Given the description of an element on the screen output the (x, y) to click on. 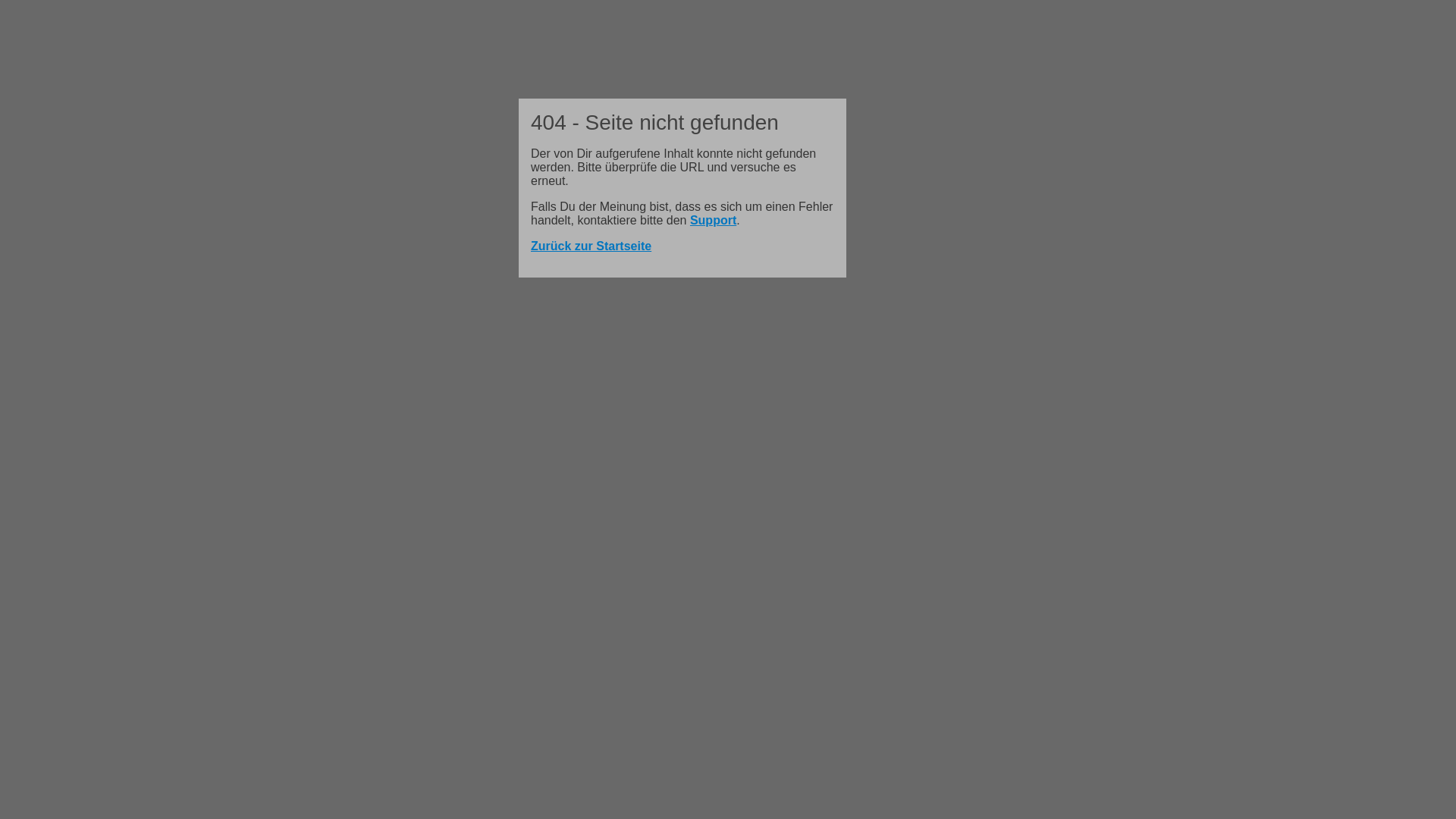
Support Element type: text (713, 219)
